Given the description of an element on the screen output the (x, y) to click on. 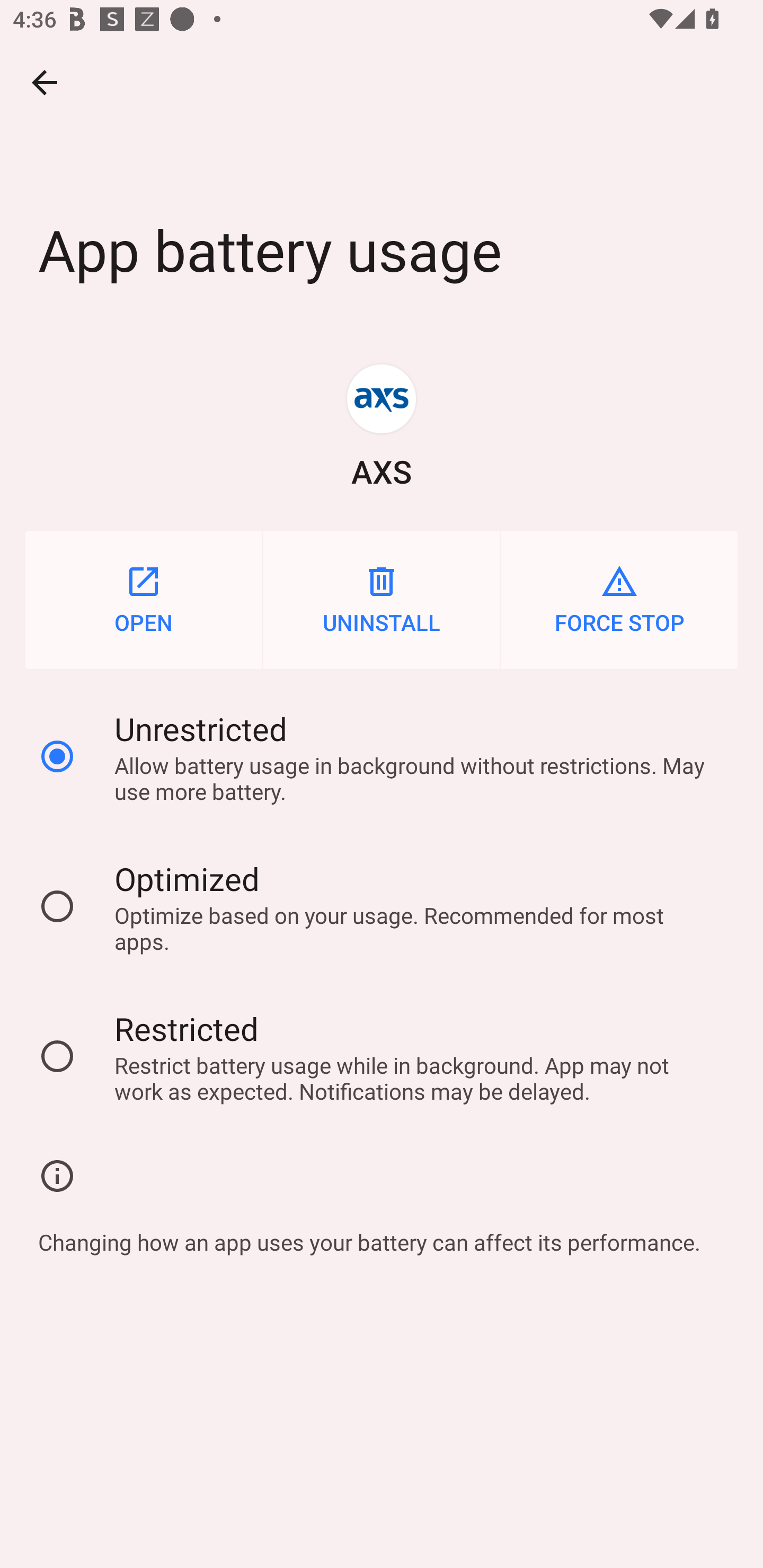
Navigate up (44, 82)
OPEN (143, 600)
UNINSTALL (381, 600)
FORCE STOP (619, 600)
